Given the description of an element on the screen output the (x, y) to click on. 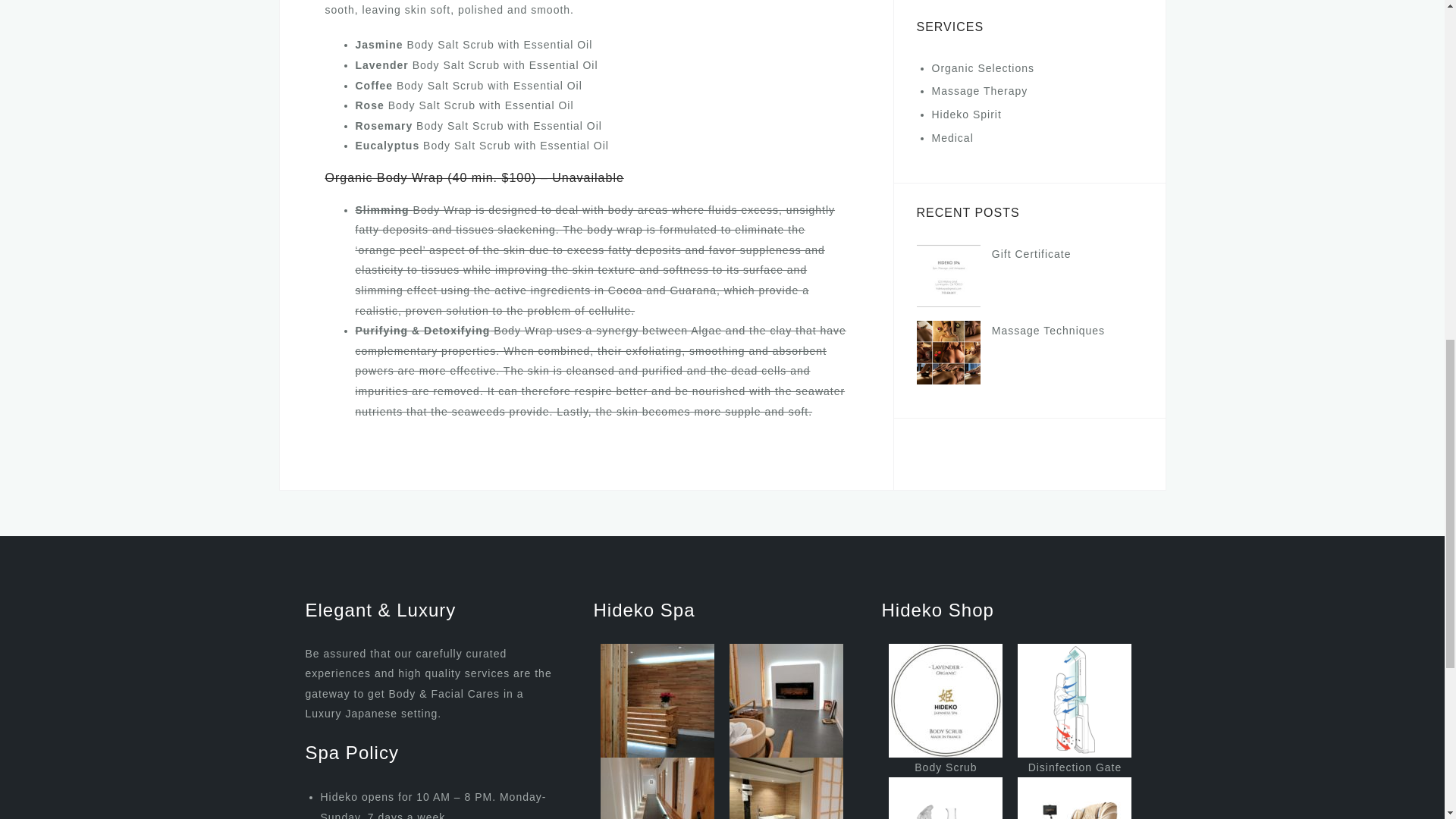
Organic Selections (982, 68)
Gift Certificate (1031, 254)
Medical (951, 137)
Hideko Spirit (966, 114)
Massage Techniques (1048, 330)
Massage Therapy (979, 91)
